Given the description of an element on the screen output the (x, y) to click on. 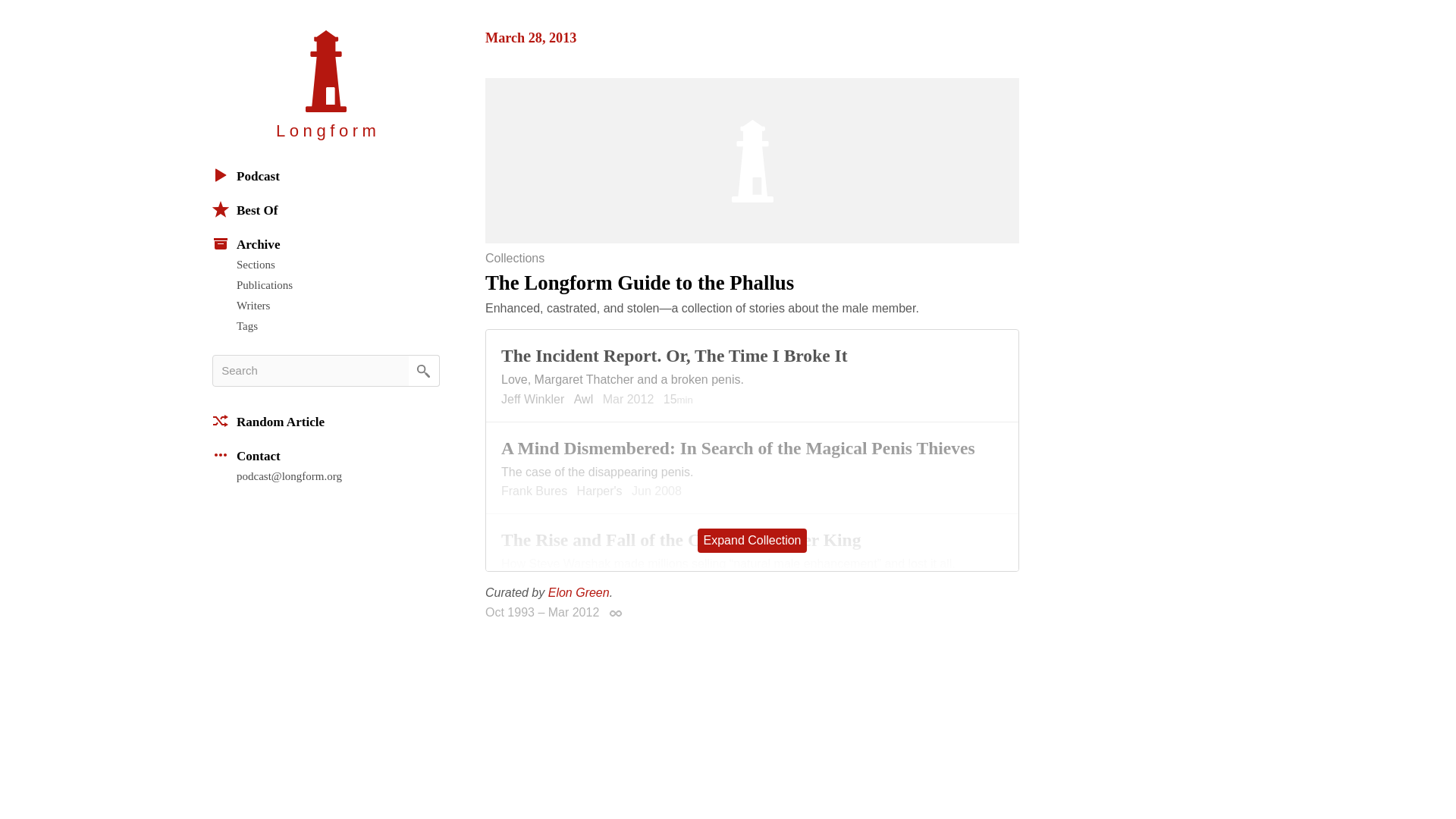
Jeff Winkler (532, 399)
Tags (337, 326)
Post Permalink (615, 613)
The Longform Guide to the Phallus (751, 282)
Writers (337, 305)
Expand Collection (752, 540)
Awl (583, 399)
Sections (337, 264)
Frank Bures (533, 490)
Harper's (599, 490)
